Given the description of an element on the screen output the (x, y) to click on. 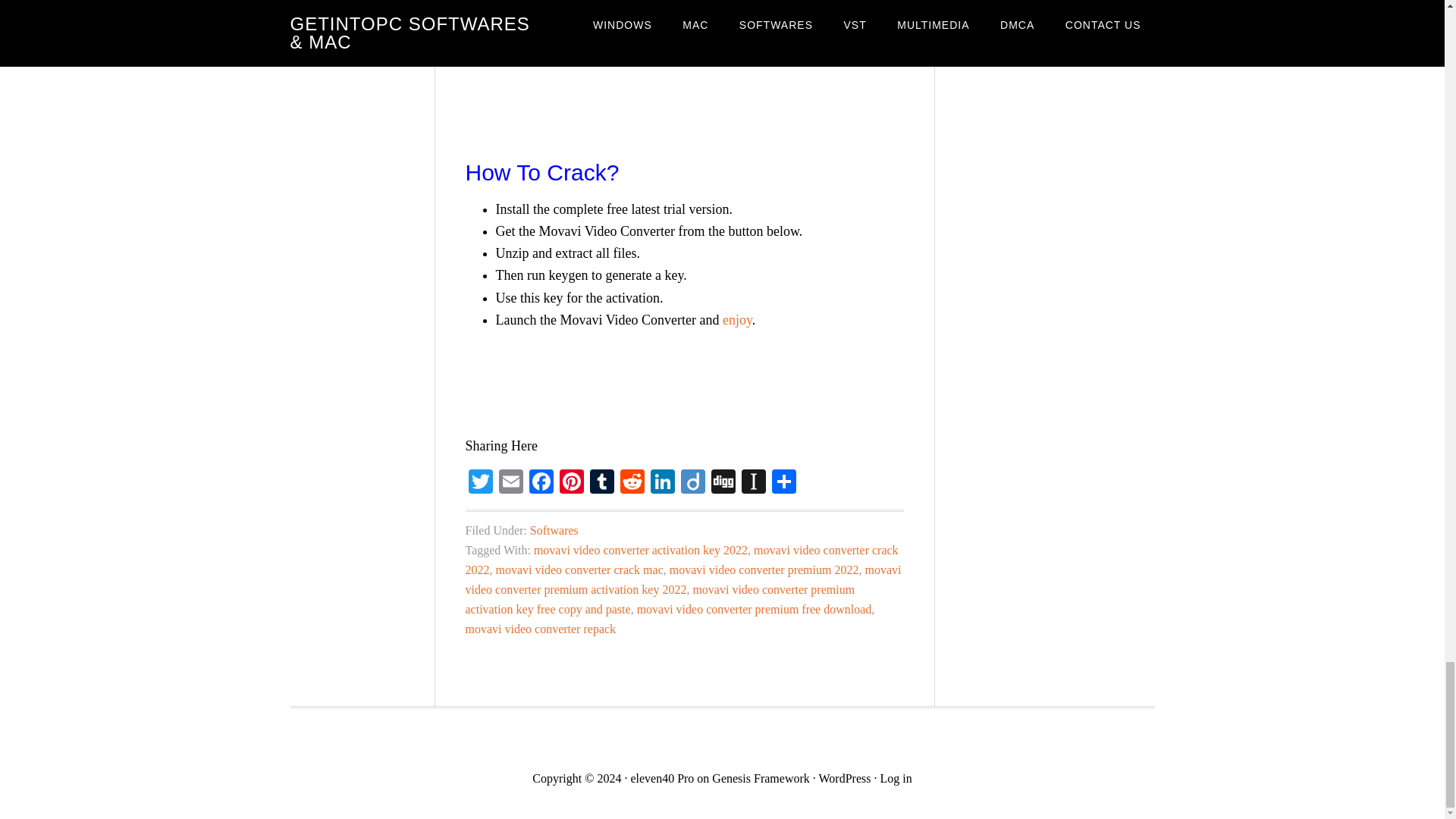
Email (510, 483)
Twitter (480, 483)
Facebook (540, 483)
LinkedIn (662, 483)
Diigo (692, 483)
enjoy (737, 319)
Facebook (540, 483)
movavi video converter crack 2022 (681, 559)
movavi video converter activation key 2022 (641, 549)
Email (510, 483)
LinkedIn (662, 483)
Tumblr (601, 483)
Twitter (480, 483)
Reddit (632, 483)
movavi video converter crack mac (579, 569)
